Given the description of an element on the screen output the (x, y) to click on. 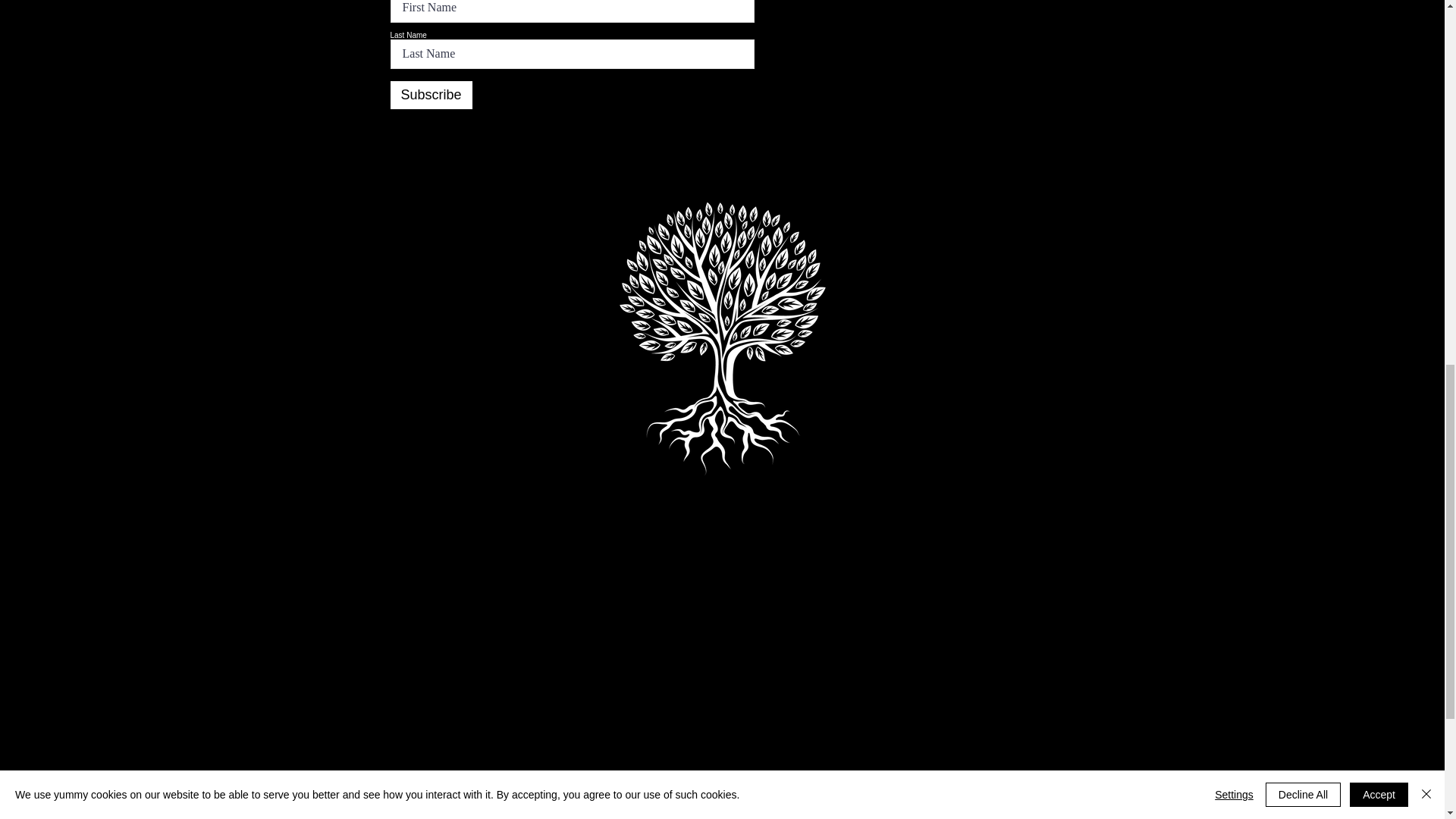
Subscribe (430, 94)
